Given the description of an element on the screen output the (x, y) to click on. 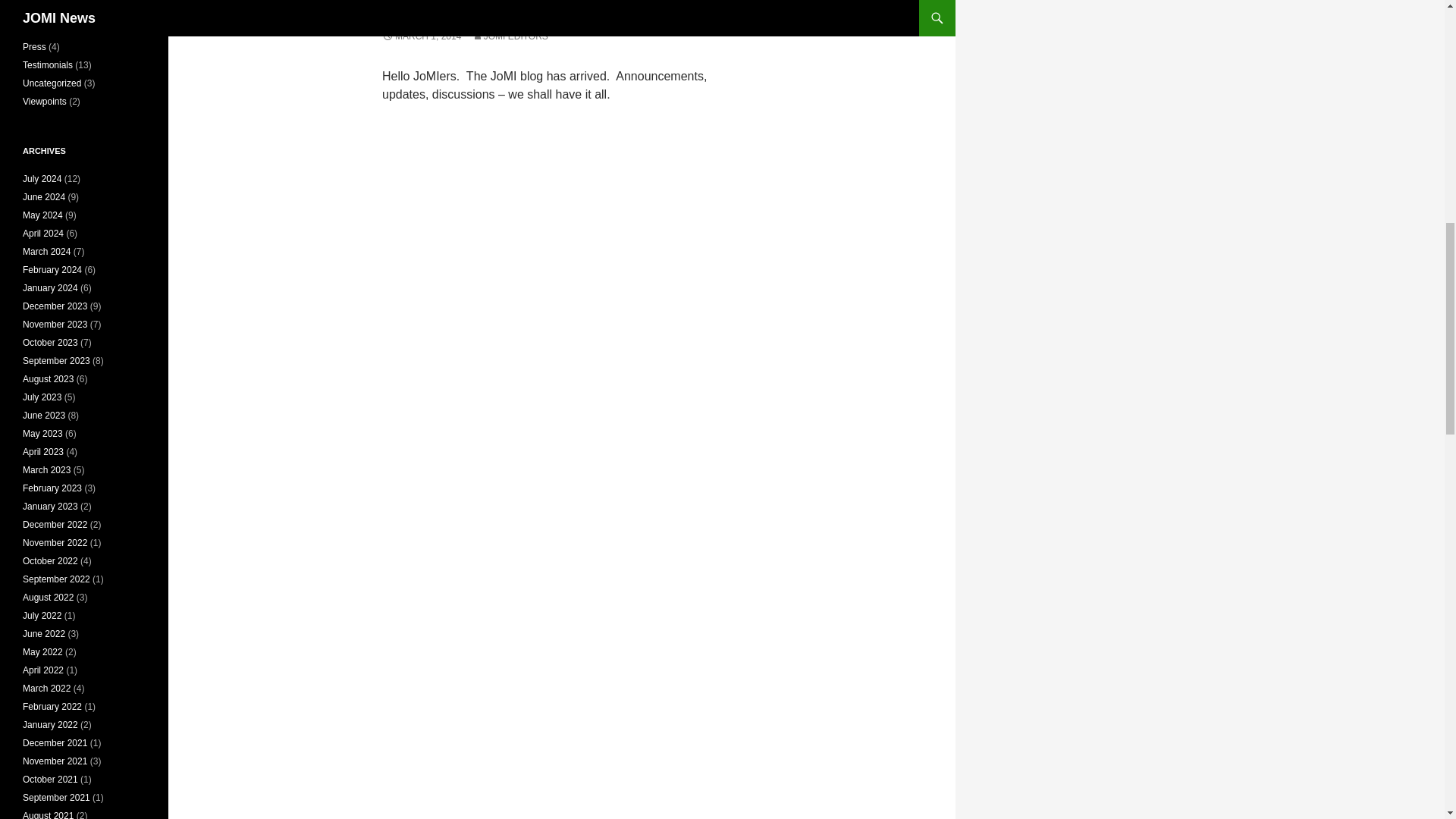
MARCH 1, 2014 (421, 36)
JOMI EDITORS (509, 36)
THE JOMI BLOG HAS ARRIVED! (507, 10)
